Given the description of an element on the screen output the (x, y) to click on. 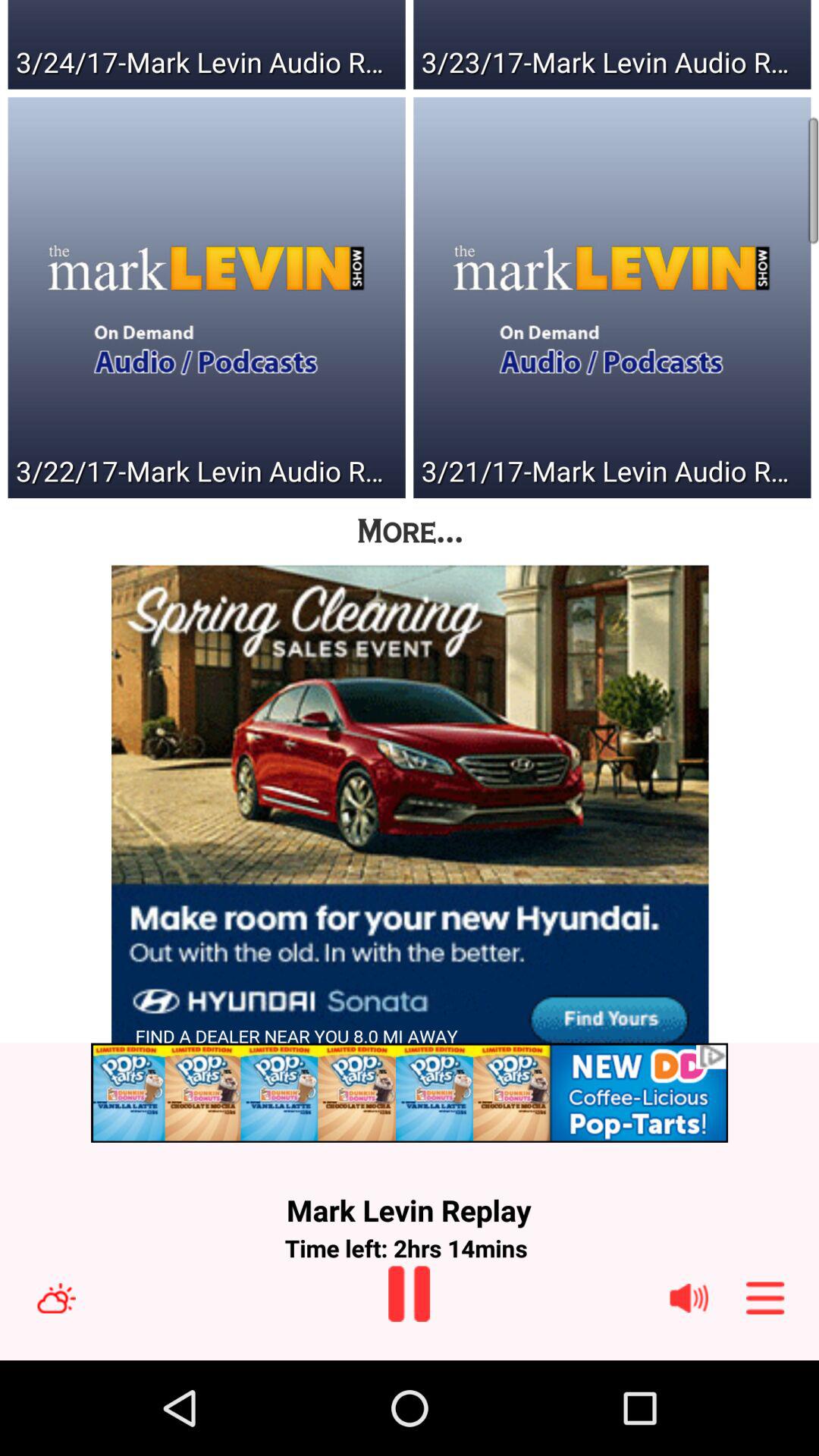
volume (688, 1298)
